Given the description of an element on the screen output the (x, y) to click on. 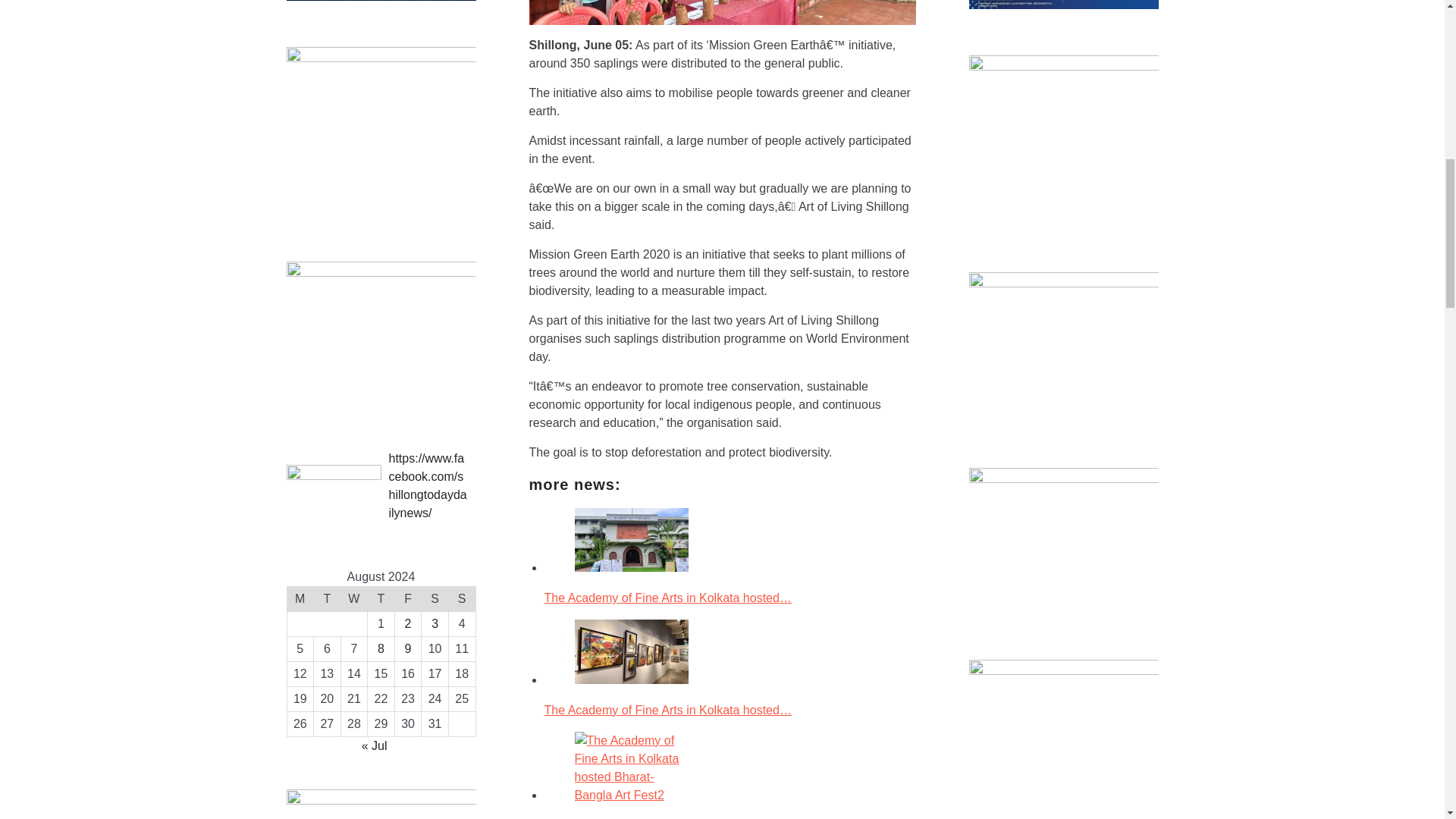
Monday (300, 598)
